Given the description of an element on the screen output the (x, y) to click on. 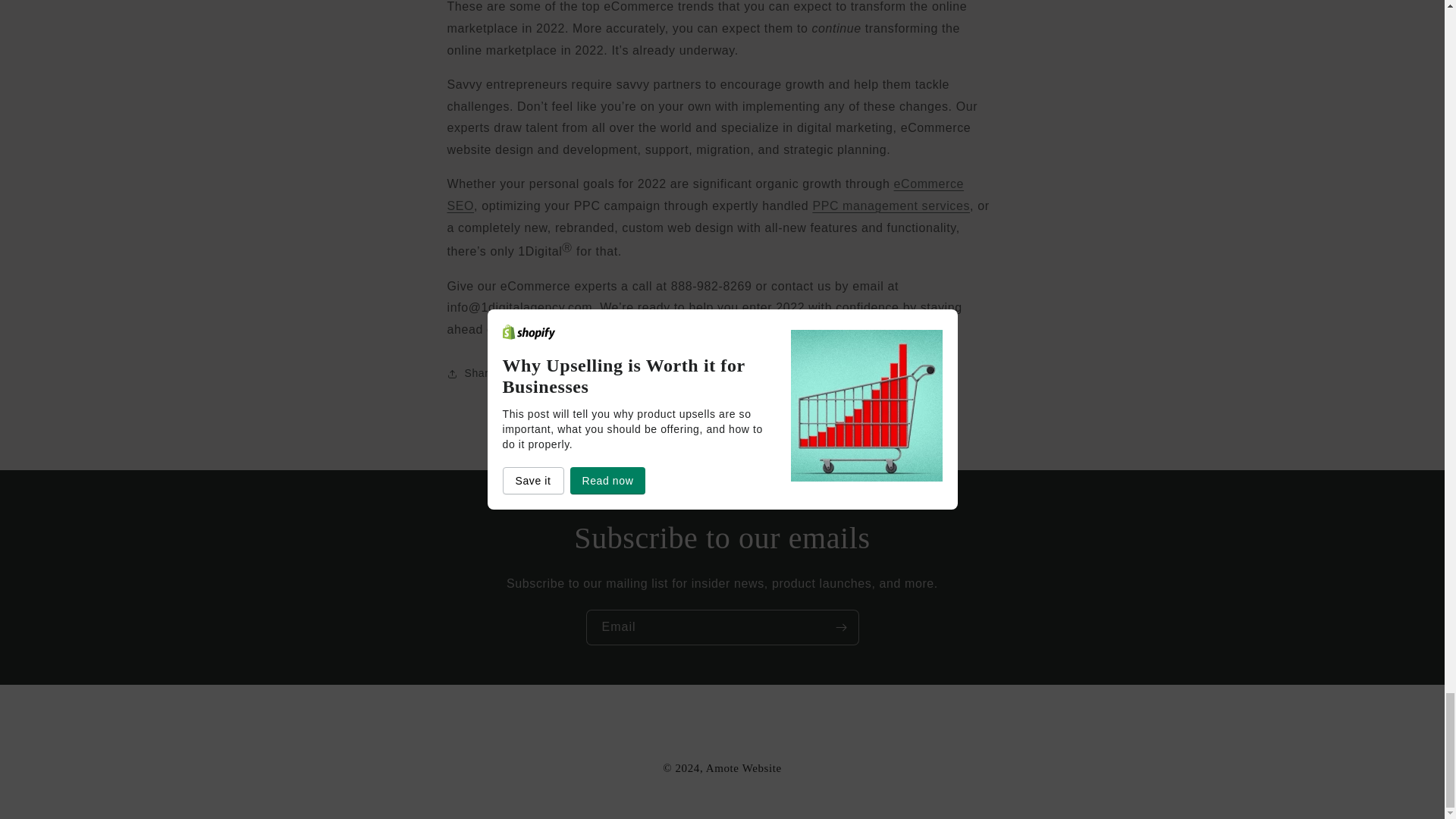
Amote Website (743, 767)
eCommerce SEO (704, 194)
PPC management services (890, 205)
